Given the description of an element on the screen output the (x, y) to click on. 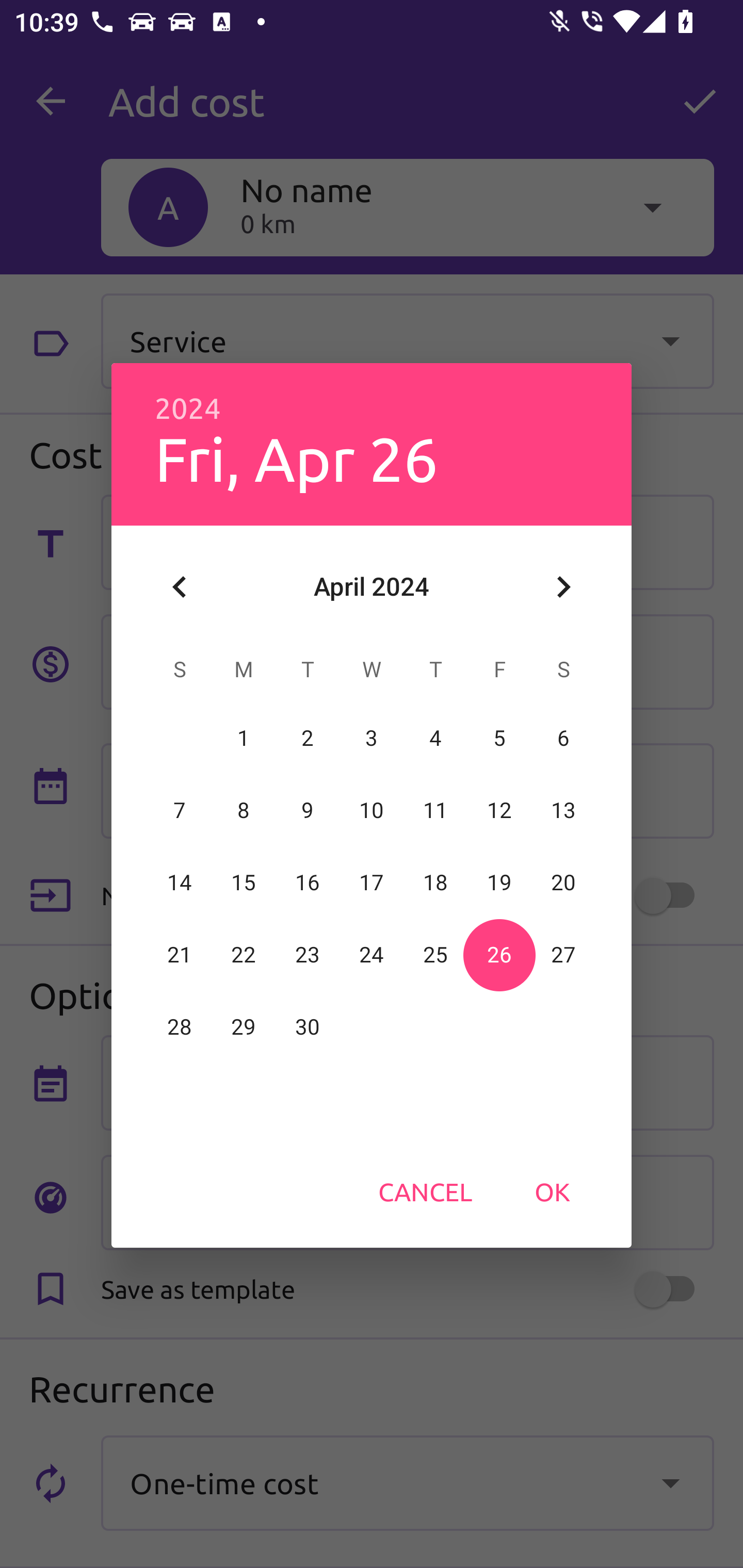
2024 (187, 408)
Fri, Apr 26 (296, 458)
Previous month (178, 587)
Next month (563, 587)
1 01 April 2024 (243, 738)
2 02 April 2024 (307, 738)
3 03 April 2024 (371, 738)
4 04 April 2024 (435, 738)
5 05 April 2024 (499, 738)
6 06 April 2024 (563, 738)
7 07 April 2024 (179, 810)
8 08 April 2024 (243, 810)
9 09 April 2024 (307, 810)
10 10 April 2024 (371, 810)
11 11 April 2024 (435, 810)
12 12 April 2024 (499, 810)
13 13 April 2024 (563, 810)
14 14 April 2024 (179, 882)
15 15 April 2024 (243, 882)
16 16 April 2024 (307, 882)
17 17 April 2024 (371, 882)
18 18 April 2024 (435, 882)
19 19 April 2024 (499, 882)
20 20 April 2024 (563, 882)
21 21 April 2024 (179, 954)
22 22 April 2024 (243, 954)
23 23 April 2024 (307, 954)
24 24 April 2024 (371, 954)
25 25 April 2024 (435, 954)
26 26 April 2024 (499, 954)
27 27 April 2024 (563, 954)
28 28 April 2024 (179, 1026)
29 29 April 2024 (243, 1026)
30 30 April 2024 (307, 1026)
CANCEL (425, 1191)
OK (552, 1191)
